Given the description of an element on the screen output the (x, y) to click on. 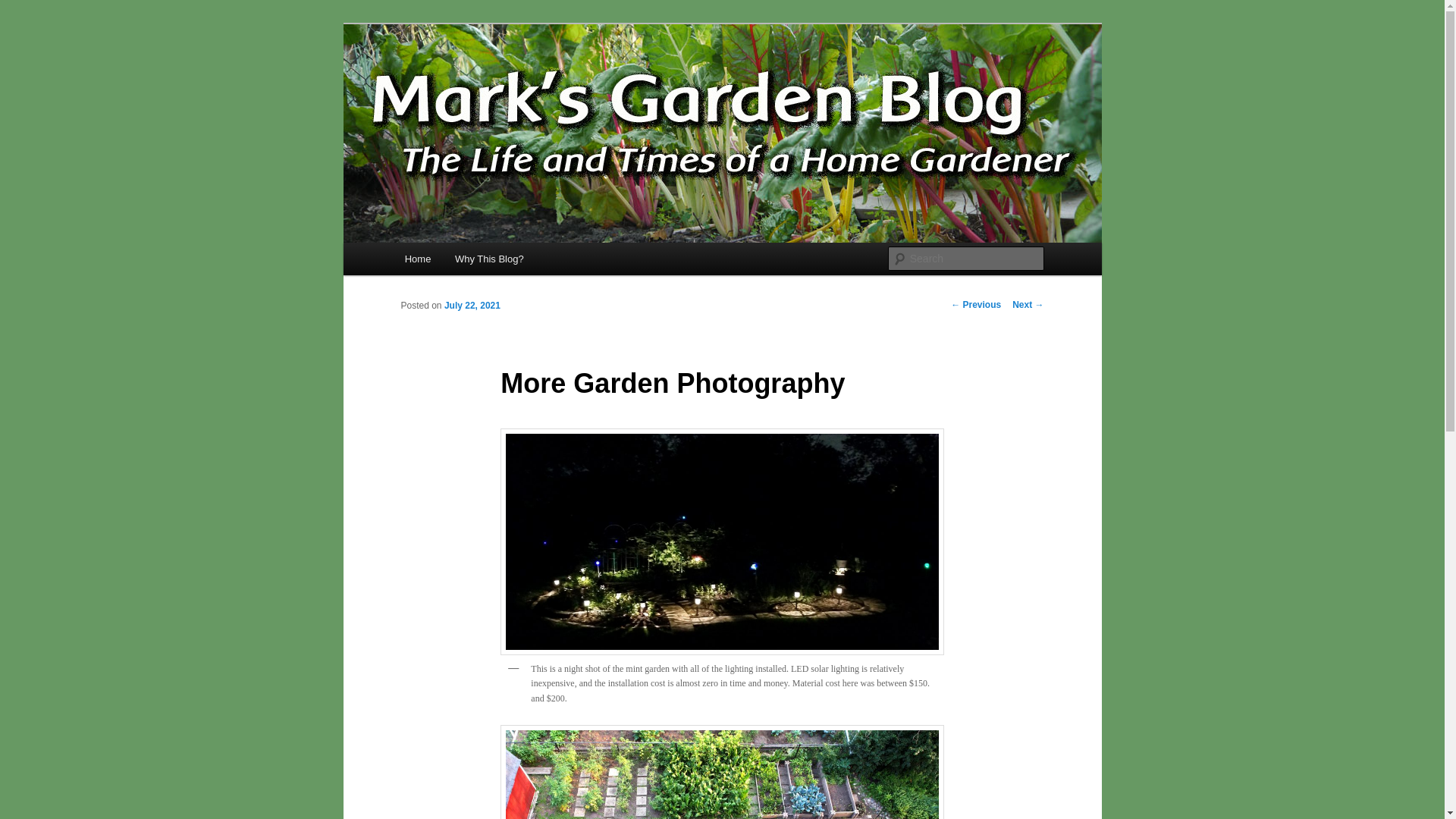
July 22, 2021 (472, 305)
Home (417, 258)
Search (24, 8)
Why This Blog? (488, 258)
Mark's Garden Blog (507, 78)
5:21 pm (472, 305)
